Given the description of an element on the screen output the (x, y) to click on. 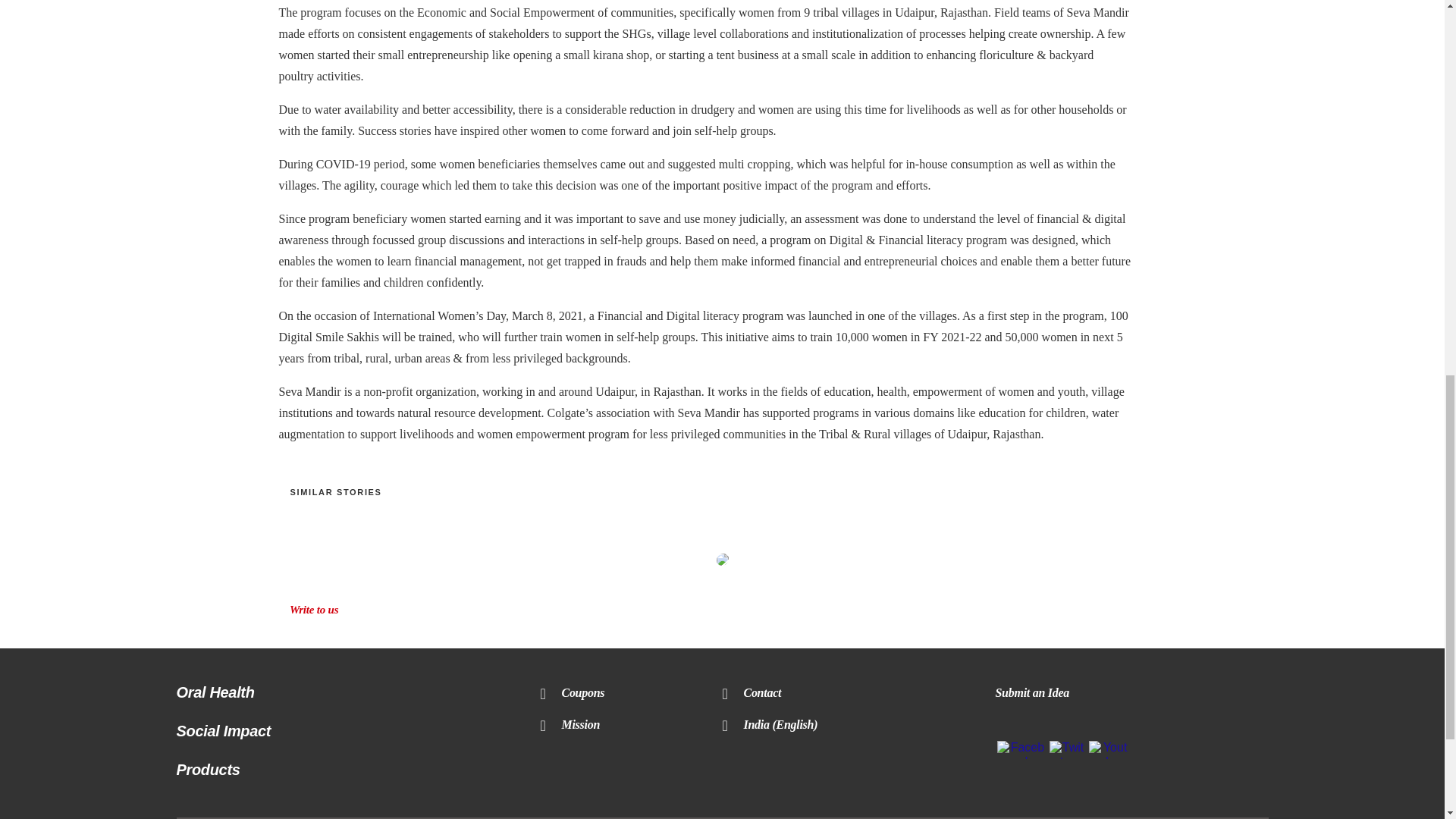
YouTube (1109, 755)
Facebook (1020, 755)
share your story (722, 559)
Twitter (1066, 755)
